Given the description of an element on the screen output the (x, y) to click on. 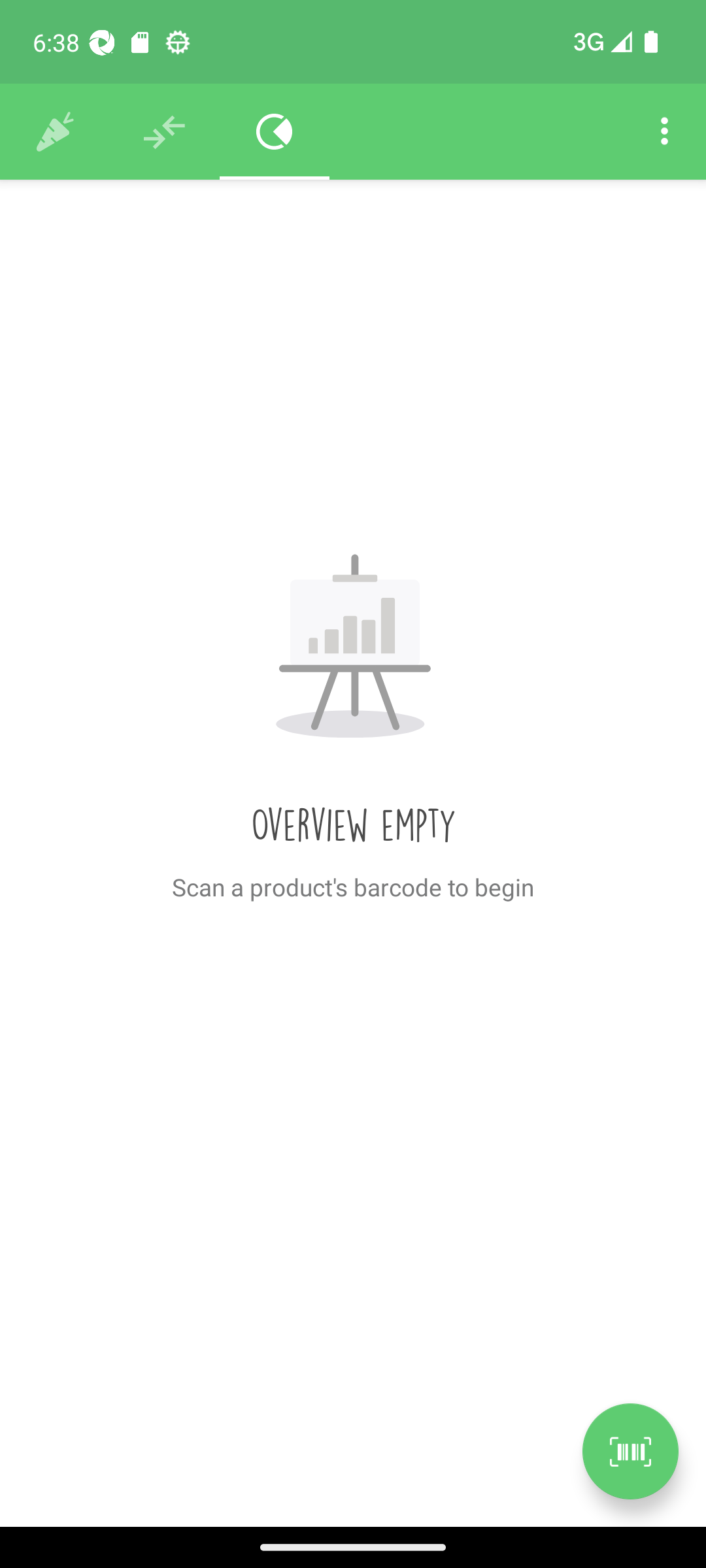
History (55, 131)
Recommendations (164, 131)
Settings (664, 131)
Scan a product (630, 1451)
